Given the description of an element on the screen output the (x, y) to click on. 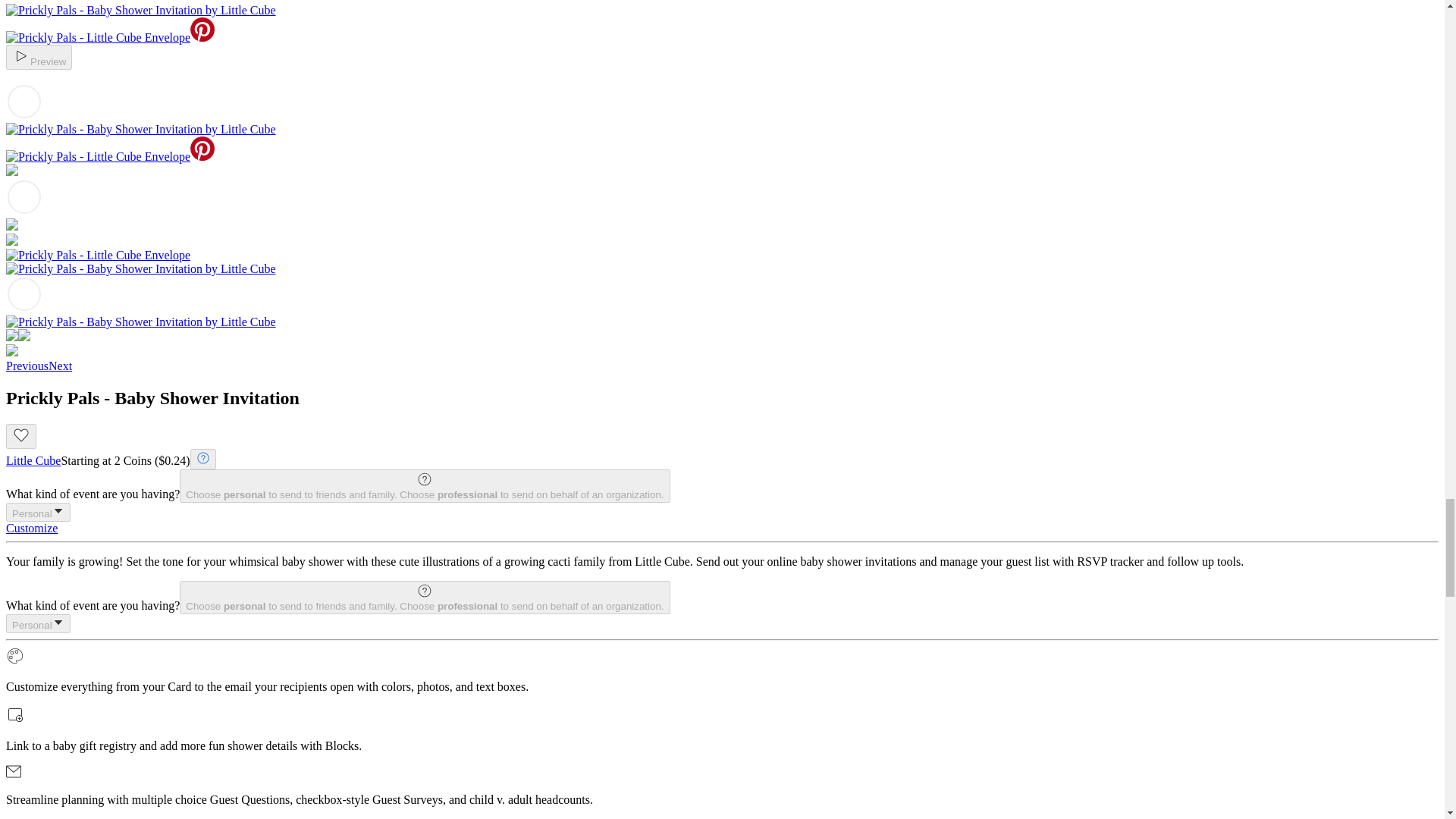
Pinterest icon (202, 29)
play icon (20, 55)
